Given the description of an element on the screen output the (x, y) to click on. 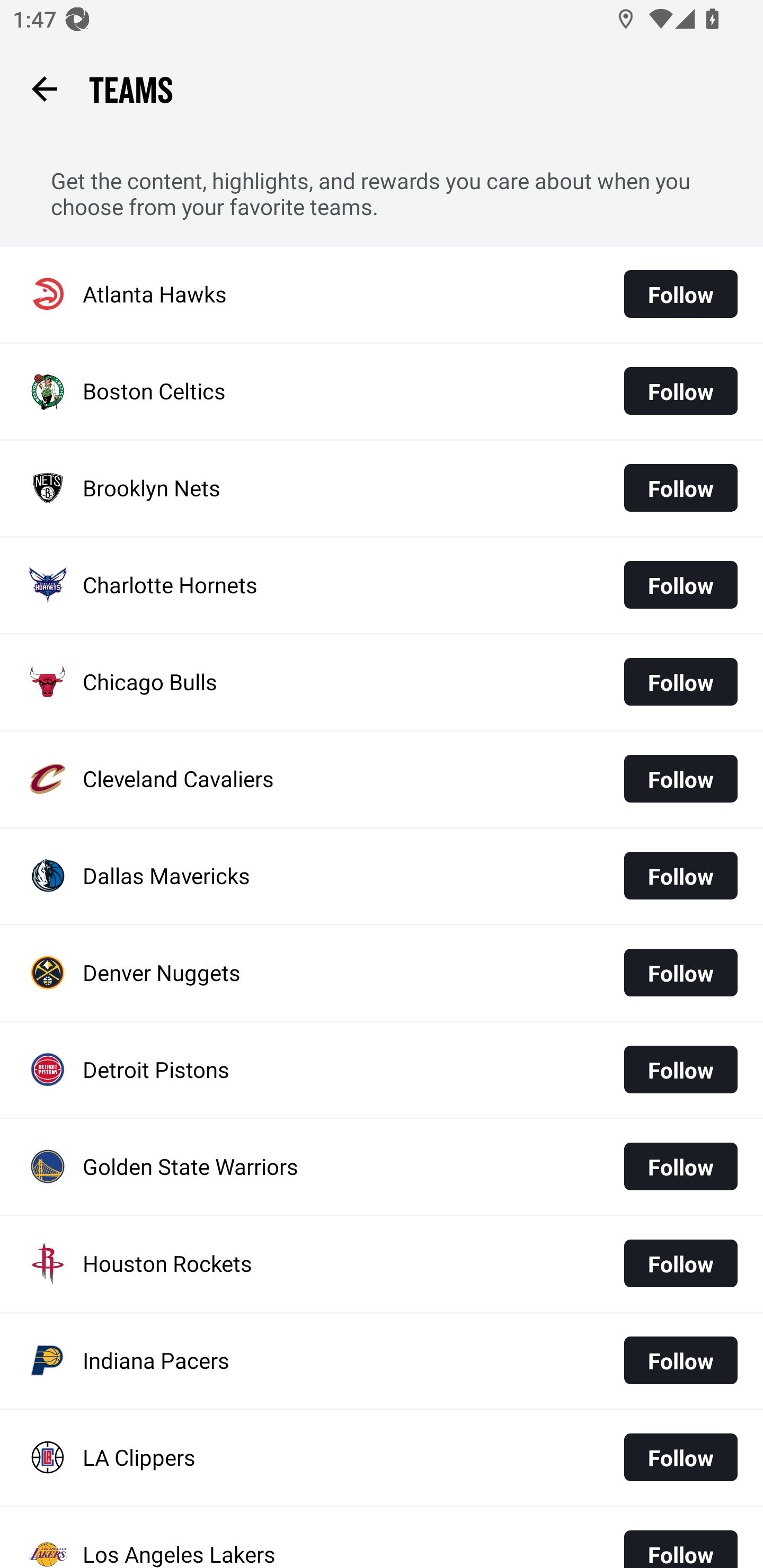
Back button (44, 88)
Atlanta Hawks Follow (381, 293)
Follow (680, 293)
Boston Celtics Follow (381, 391)
Follow (680, 390)
Brooklyn Nets Follow (381, 488)
Follow (680, 487)
Charlotte Hornets Follow (381, 585)
Follow (680, 584)
Chicago Bulls Follow (381, 682)
Follow (680, 680)
Cleveland Cavaliers Follow (381, 779)
Follow (680, 778)
Dallas Mavericks Follow (381, 875)
Follow (680, 875)
Denver Nuggets Follow (381, 972)
Follow (680, 972)
Detroit Pistons Follow (381, 1069)
Follow (680, 1069)
Golden State Warriors Follow (381, 1167)
Follow (680, 1166)
Houston Rockets Follow (381, 1263)
Follow (680, 1262)
Indiana Pacers Follow (381, 1360)
Follow (680, 1359)
LA Clippers Follow (381, 1457)
Follow (680, 1457)
Follow (680, 1542)
